Given the description of an element on the screen output the (x, y) to click on. 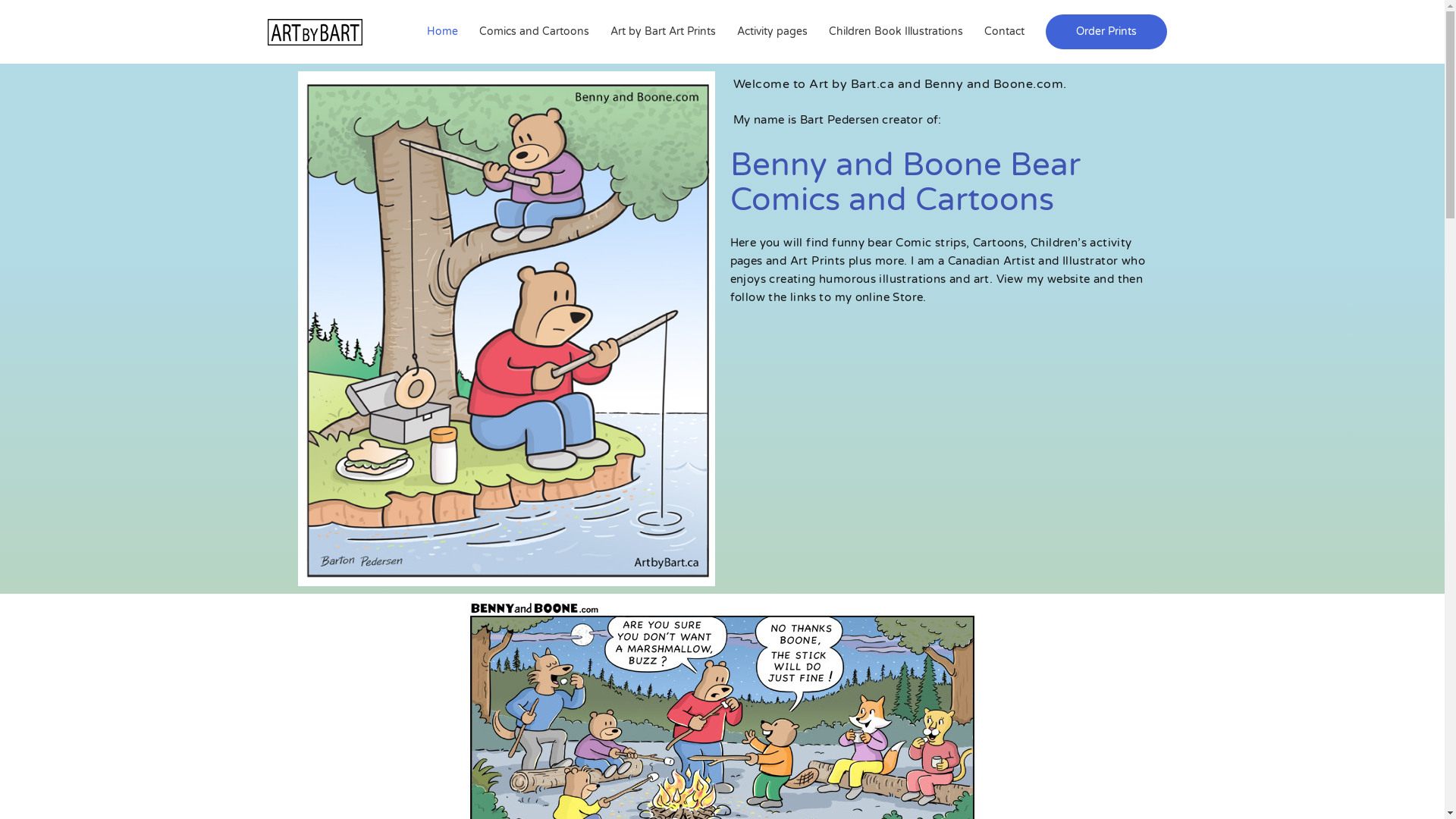
Activity pages Element type: text (772, 31)
Art by Bart Art Prints Element type: text (662, 31)
Children Book Illustrations Element type: text (894, 31)
Home Element type: text (441, 31)
Order Prints Element type: text (1105, 31)
Contact Element type: text (1004, 31)
Comics and Cartoons Element type: text (533, 31)
